Given the description of an element on the screen output the (x, y) to click on. 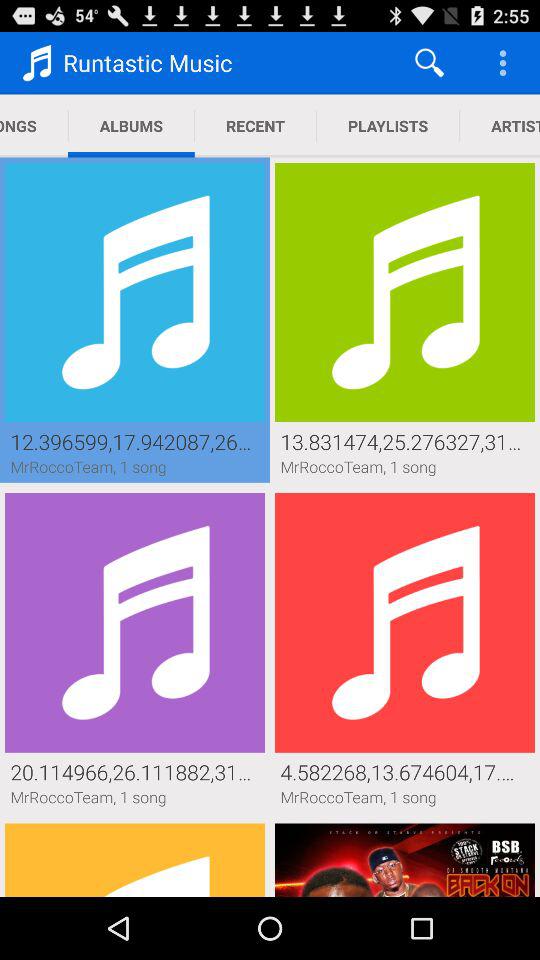
launch item below the runtastic music icon (255, 125)
